Given the description of an element on the screen output the (x, y) to click on. 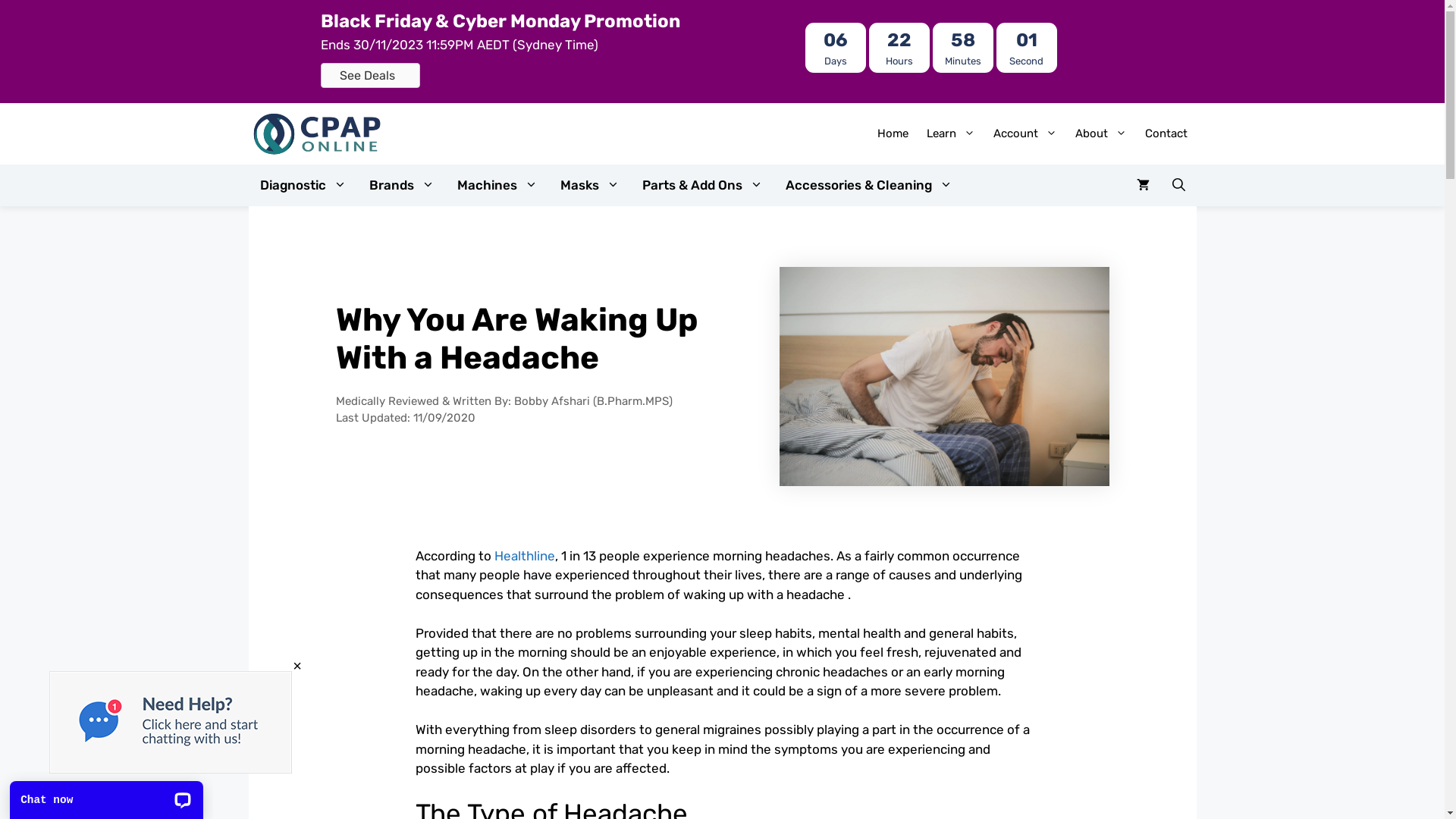
Machines Element type: text (497, 185)
headachewakeup Element type: hover (943, 376)
About Element type: text (1100, 133)
Accessories & Cleaning Element type: text (868, 185)
View your shopping cart Element type: hover (1143, 185)
See Deals Element type: text (369, 74)
Parts & Add Ons Element type: text (702, 185)
Masks Element type: text (589, 185)
Diagnostic Element type: text (302, 185)
Contact Element type: text (1165, 133)
Brands Element type: text (401, 185)
Home Element type: text (891, 133)
Learn Element type: text (950, 133)
Account Element type: text (1025, 133)
Healthline Element type: text (524, 555)
